Given the description of an element on the screen output the (x, y) to click on. 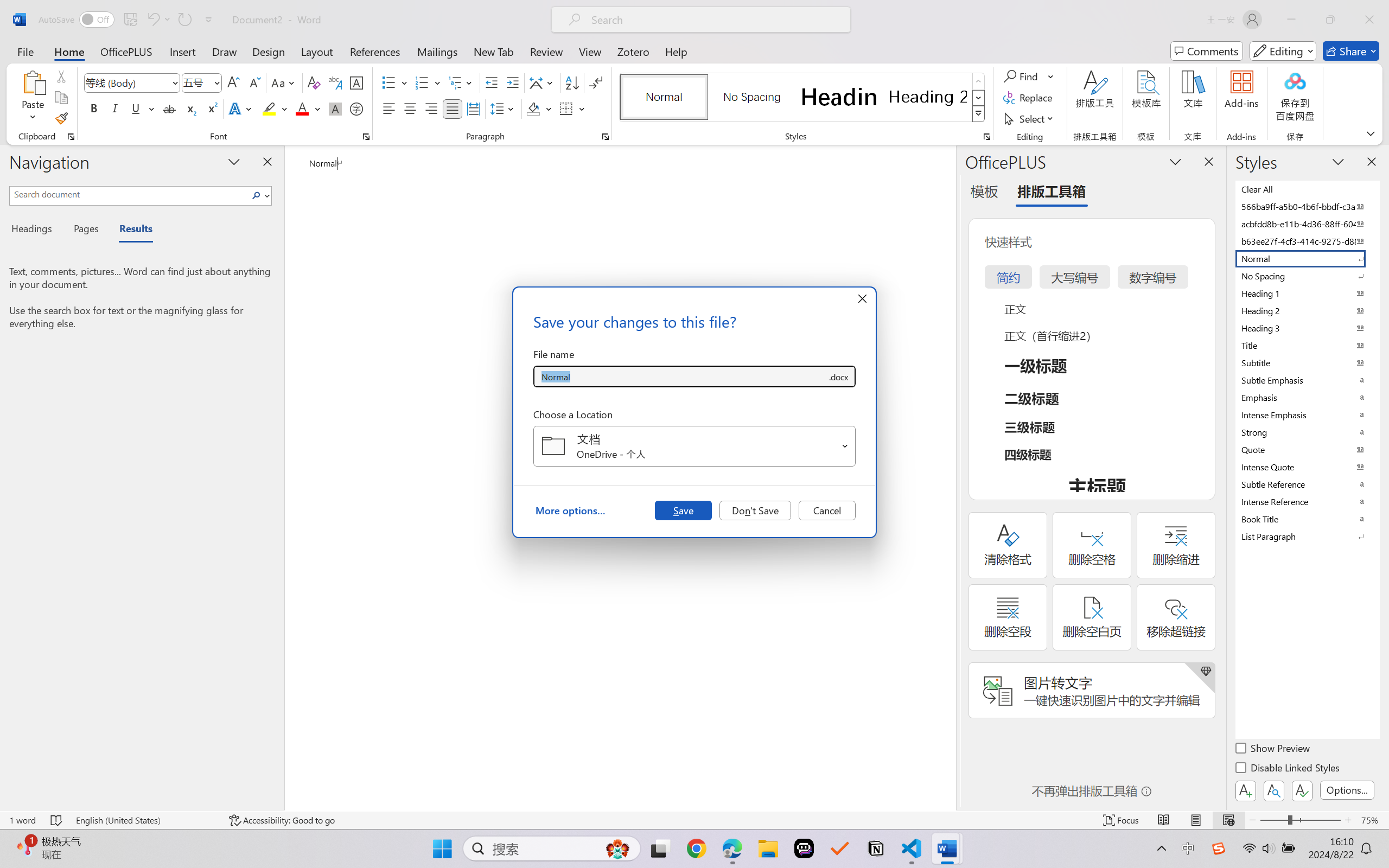
Word Count 1 word (21, 819)
Undo Apply Quick Style (152, 19)
Quote (1306, 449)
Strong (1306, 431)
AutoSave (76, 19)
Print Layout (1196, 819)
Format Painter (60, 118)
Poe (804, 848)
Zotero (632, 51)
Notion (875, 848)
Font Color Red (302, 108)
